Given the description of an element on the screen output the (x, y) to click on. 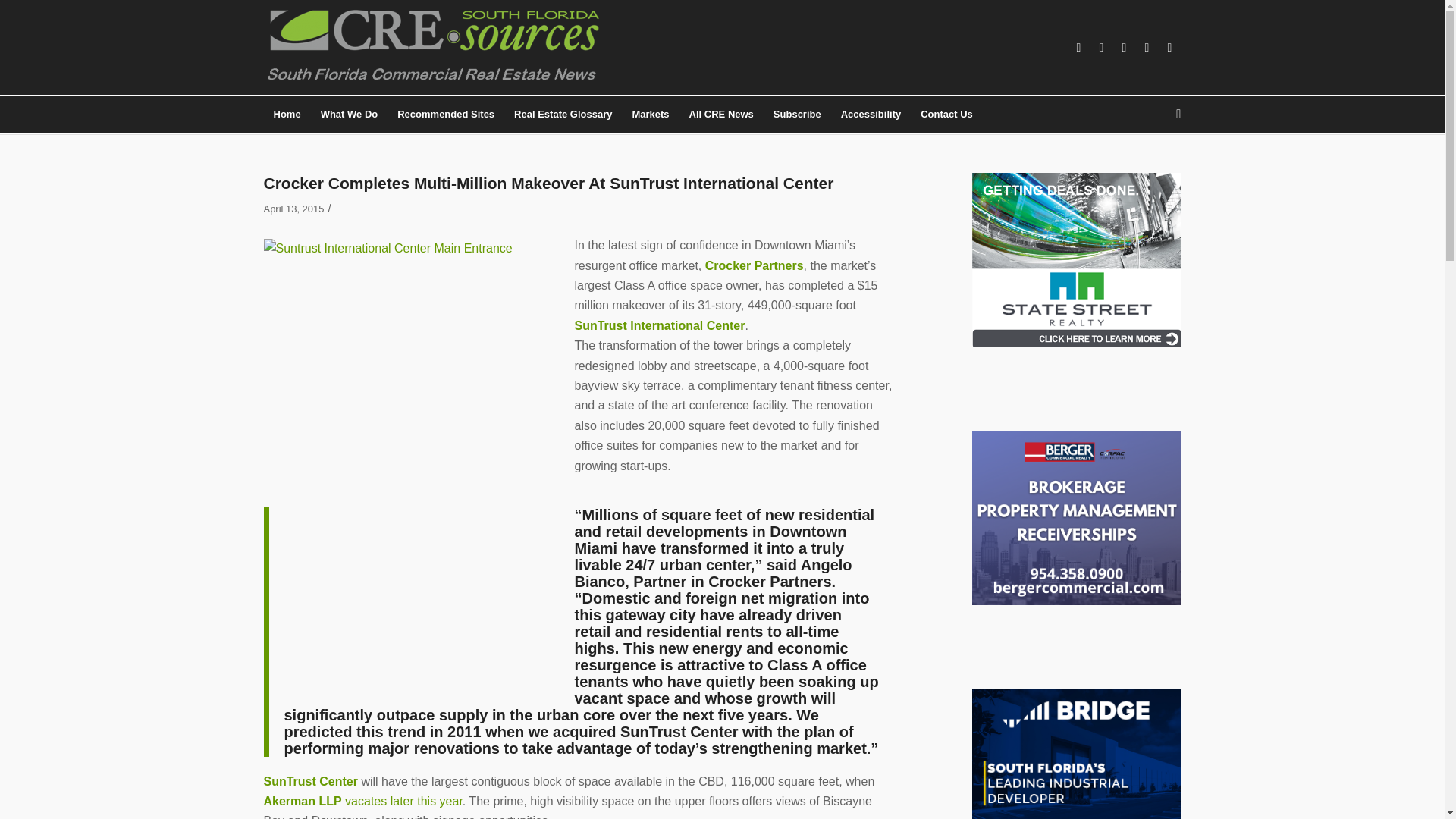
Home (287, 114)
Real Estate Glossary (562, 114)
All CRE News (720, 114)
Markets (649, 114)
LinkedIn (1101, 47)
What We Do (349, 114)
Instagram (1124, 47)
What We Do At CRE-sources (349, 114)
Recommended Sites (445, 114)
Facebook (1078, 47)
